Given the description of an element on the screen output the (x, y) to click on. 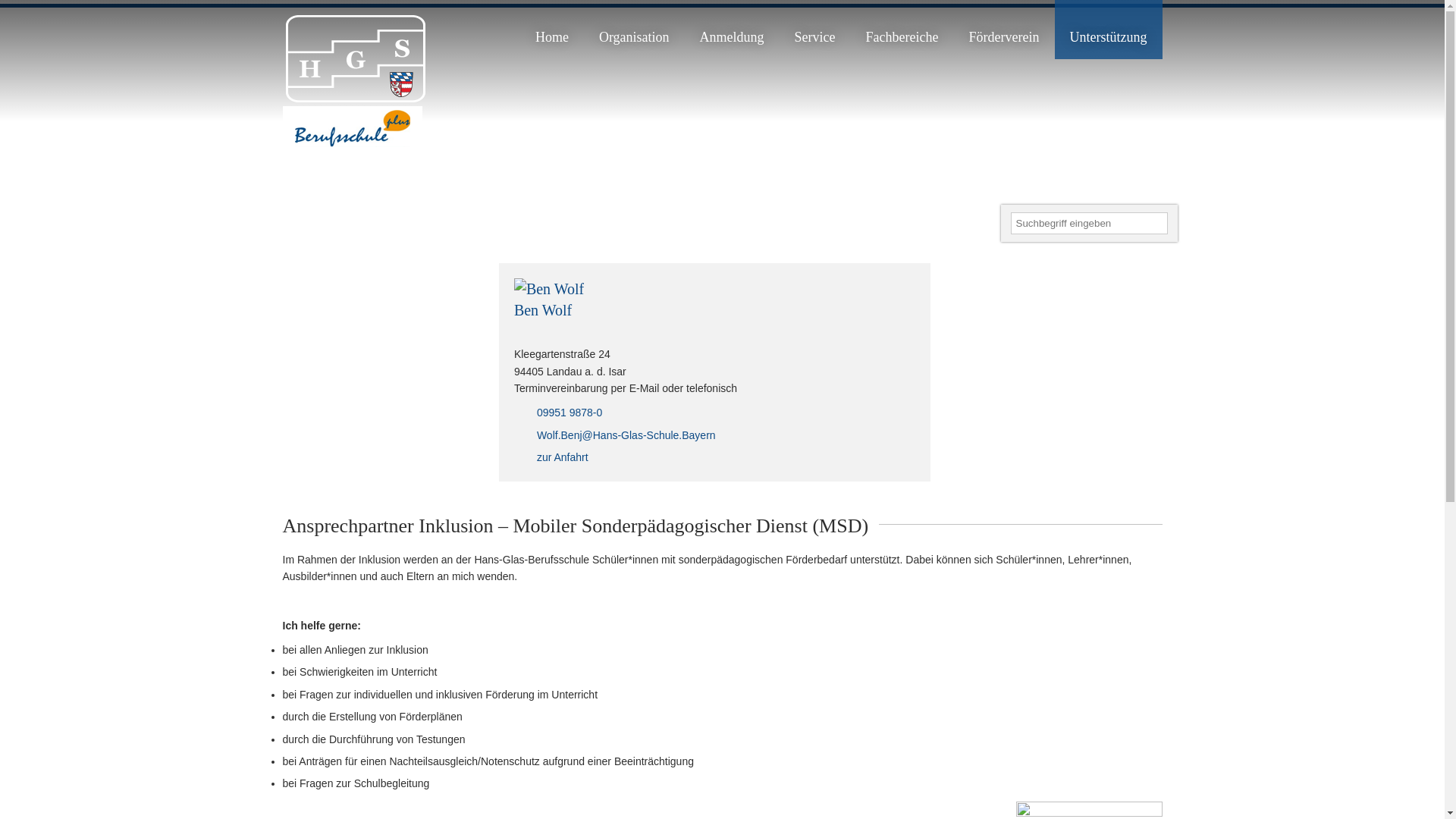
Zum Inhalt springen Element type: text (840, 0)
09951 9878-0 Element type: text (558, 412)
Organisation Element type: text (633, 29)
zur Anfahrt Element type: text (551, 457)
Wolf.Benj@Hans-Glas-Schule.Bayern Element type: text (614, 435)
Fachbereiche Element type: text (901, 29)
Service Element type: text (814, 29)
Hans Glas Schule Element type: text (353, 97)
Suche Element type: text (1155, 224)
Home Element type: text (551, 29)
Anmeldung Element type: text (731, 29)
